Given the description of an element on the screen output the (x, y) to click on. 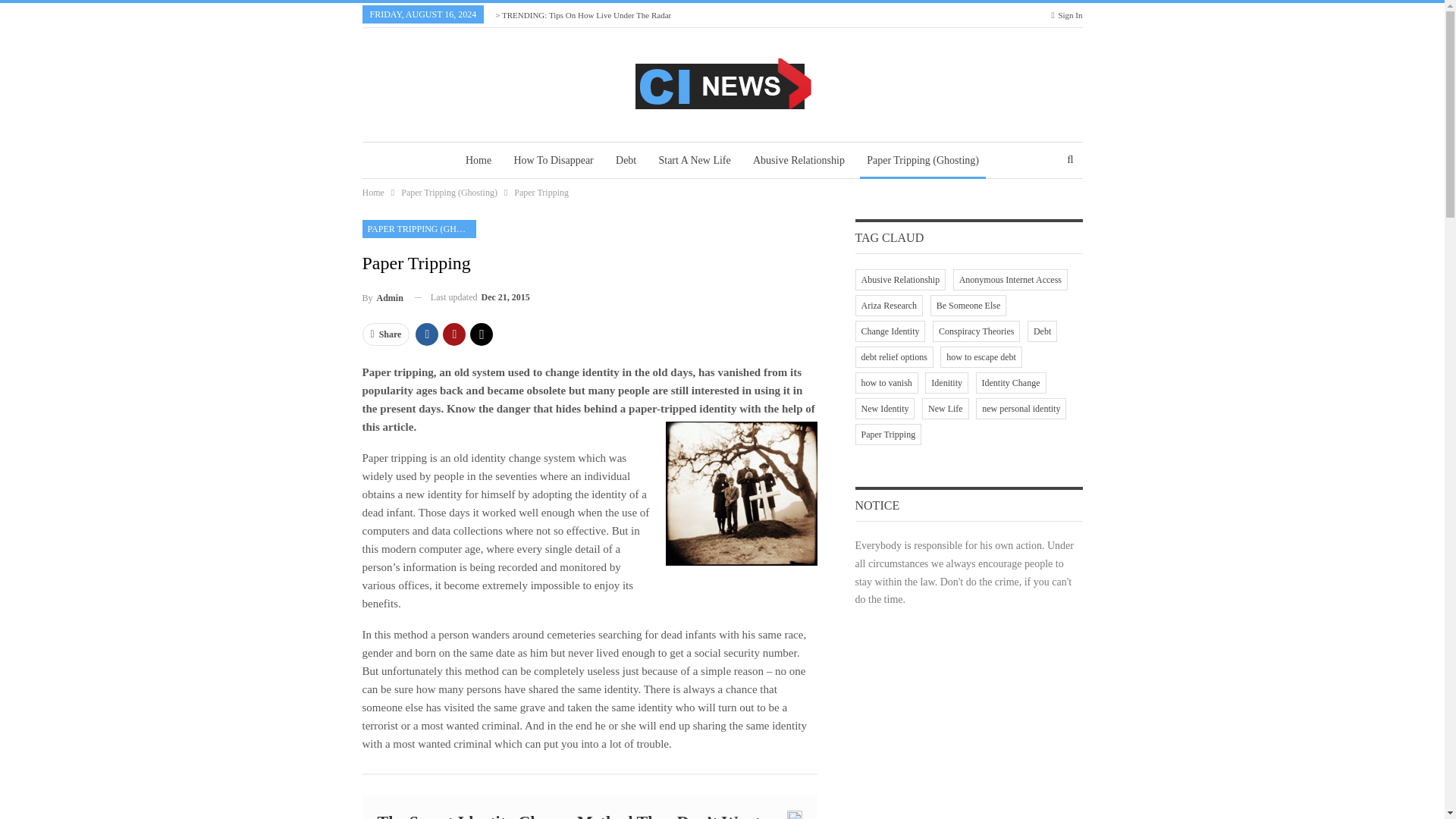
Start A New Life (693, 160)
Home (477, 160)
Home (373, 192)
Browse Author Articles (382, 297)
paper-tripping (740, 493)
Abusive Relationship (798, 160)
Debt (625, 160)
Sign In (1067, 14)
By Admin (382, 297)
How To Disappear (552, 160)
